Given the description of an element on the screen output the (x, y) to click on. 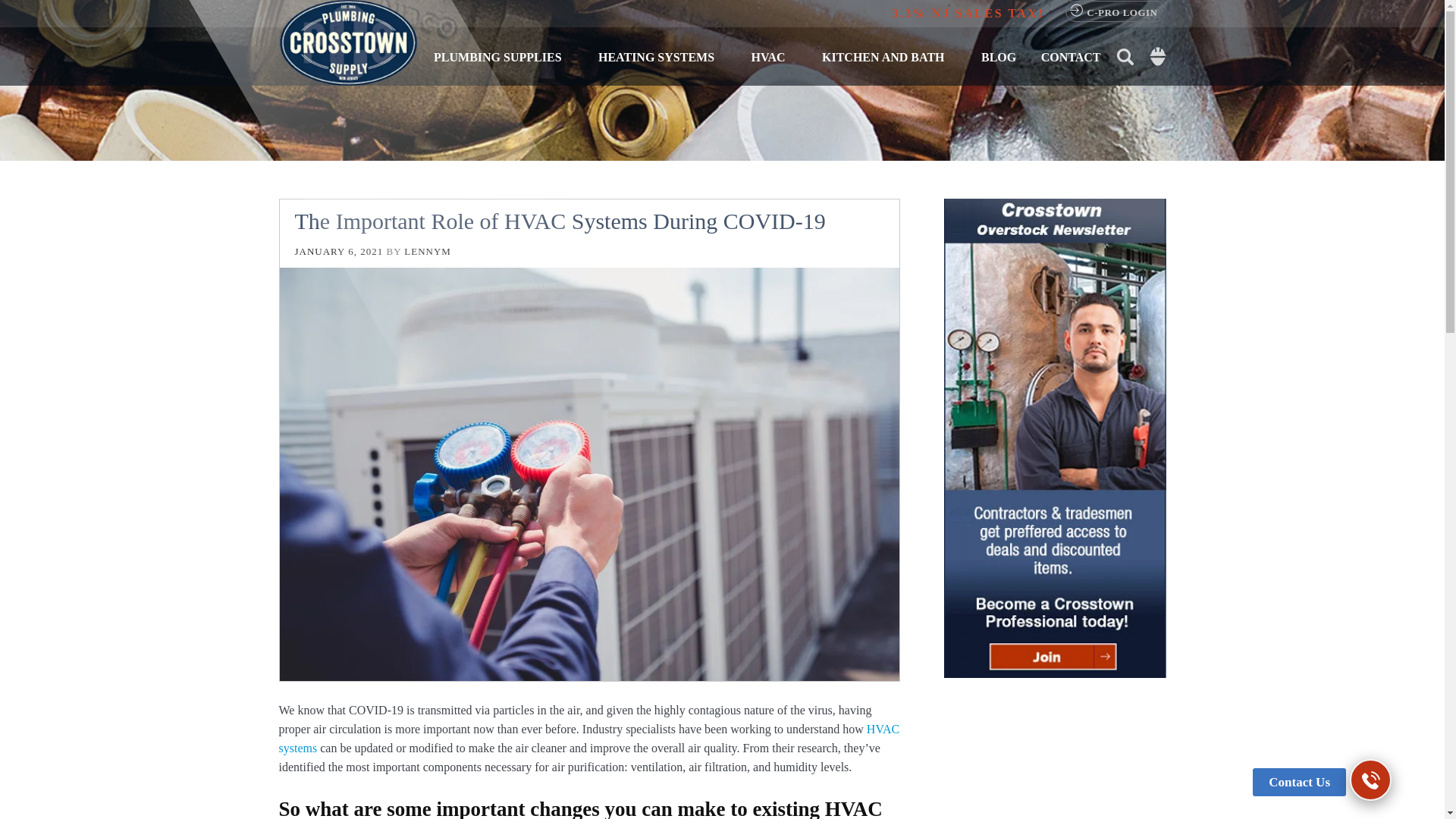
HEATING SYSTEMS (662, 56)
PLUMBING SUPPLIES (503, 56)
C-PRO LOGIN (1115, 11)
